Given the description of an element on the screen output the (x, y) to click on. 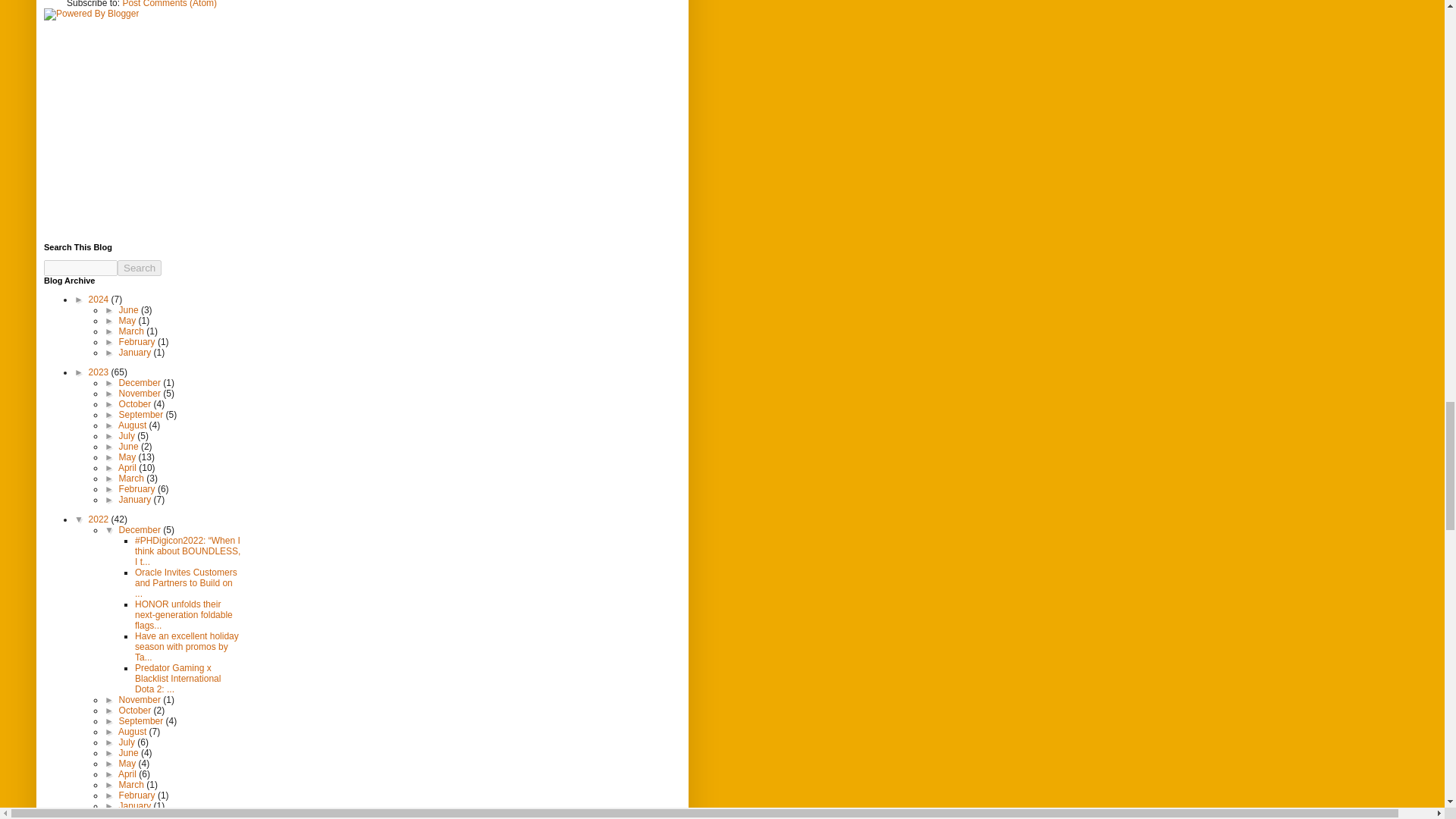
June (130, 309)
March (133, 330)
Home (192, 0)
Search (139, 268)
search (80, 268)
Search (139, 268)
search (139, 268)
2024 (100, 299)
May (128, 320)
January (136, 352)
Older Post (148, 0)
2023 (100, 371)
Older Post (148, 0)
Search (139, 268)
Newer Post (93, 0)
